Given the description of an element on the screen output the (x, y) to click on. 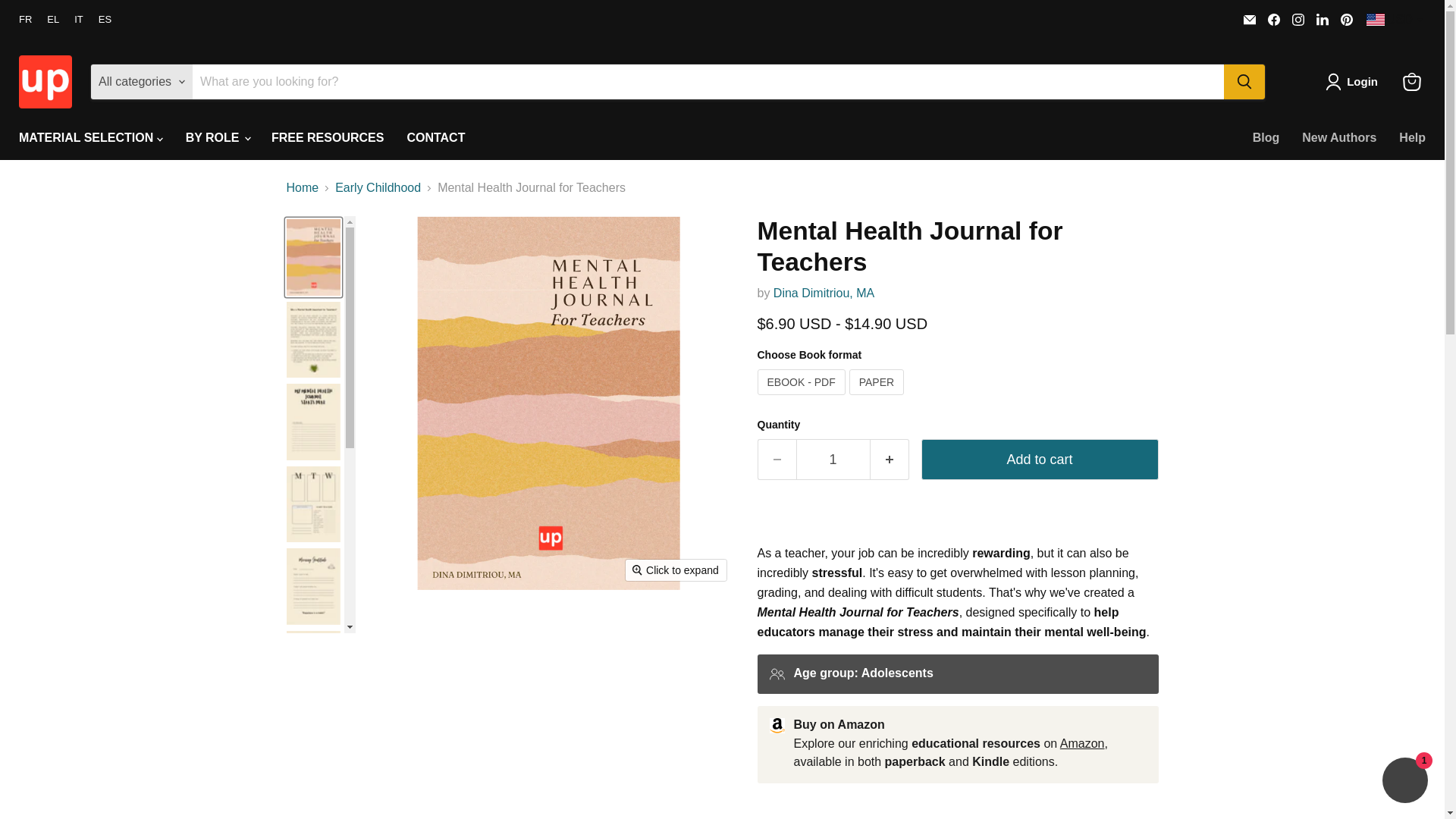
Email Upbility Publications (1249, 19)
Find us on Pinterest (1346, 19)
ES (105, 19)
Facebook (1273, 19)
View cart (1411, 81)
EL (52, 19)
LinkedIn (1322, 19)
Email (1249, 19)
Dina Dimitriou, MA (824, 292)
Login (1354, 81)
Find us on LinkedIn (1322, 19)
Find us on Facebook (1273, 19)
Find us on Instagram (1297, 19)
1 (833, 459)
FR (25, 19)
